Given the description of an element on the screen output the (x, y) to click on. 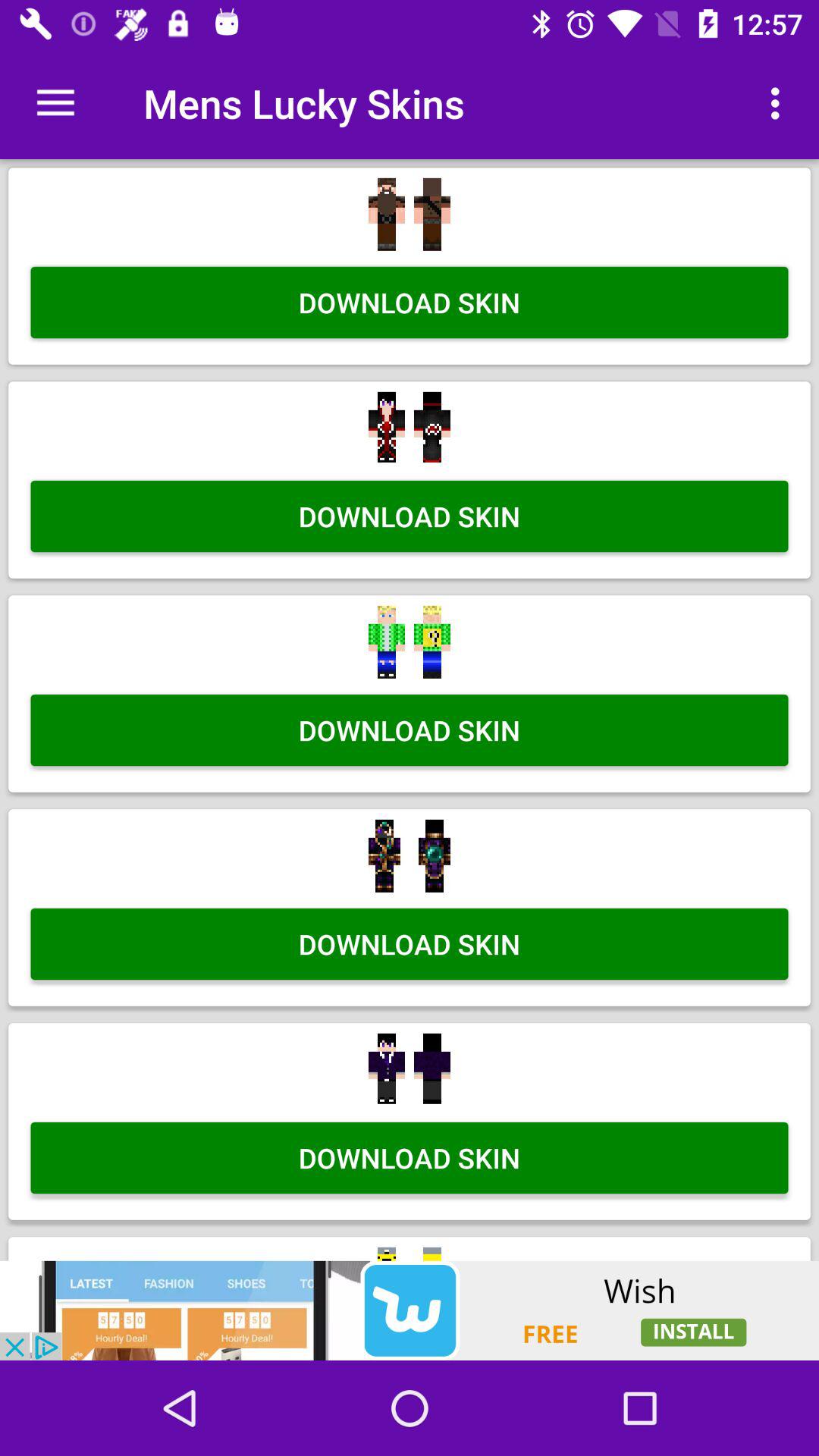
advertisement for installing wish (409, 1310)
